Given the description of an element on the screen output the (x, y) to click on. 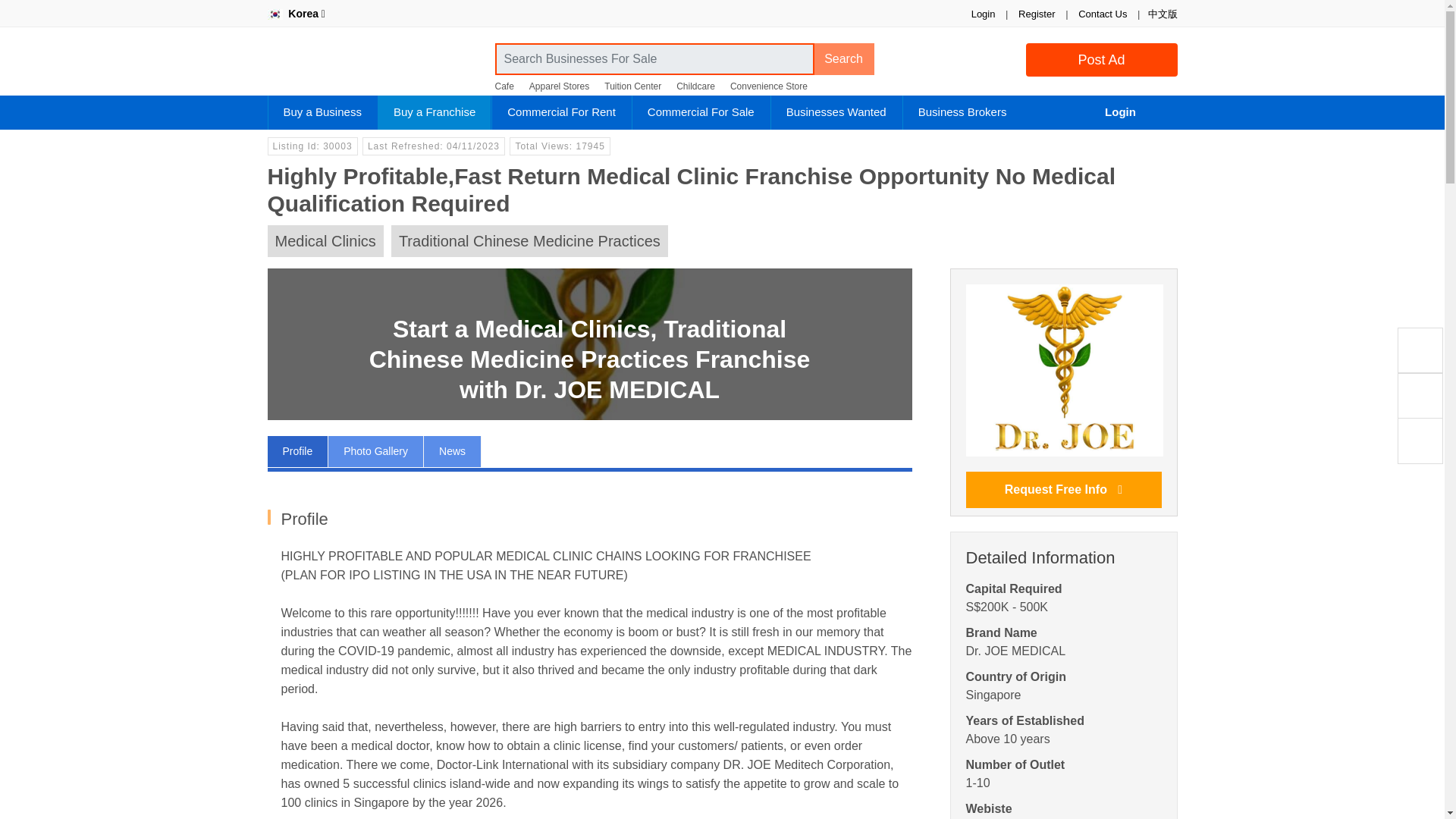
Commercial For Rent (561, 111)
Post Ad (1100, 59)
Post Ad (1100, 59)
Request Free Info (1063, 489)
Buy a Franchise (434, 112)
Convenience Store (769, 86)
Search (842, 59)
SellBuyBusiness.com (372, 64)
Buy a Business (322, 111)
Apparel Stores (559, 86)
Cafe (504, 86)
Contact Us (1102, 13)
Register (1035, 13)
Commercial For Sale (700, 111)
